Given the description of an element on the screen output the (x, y) to click on. 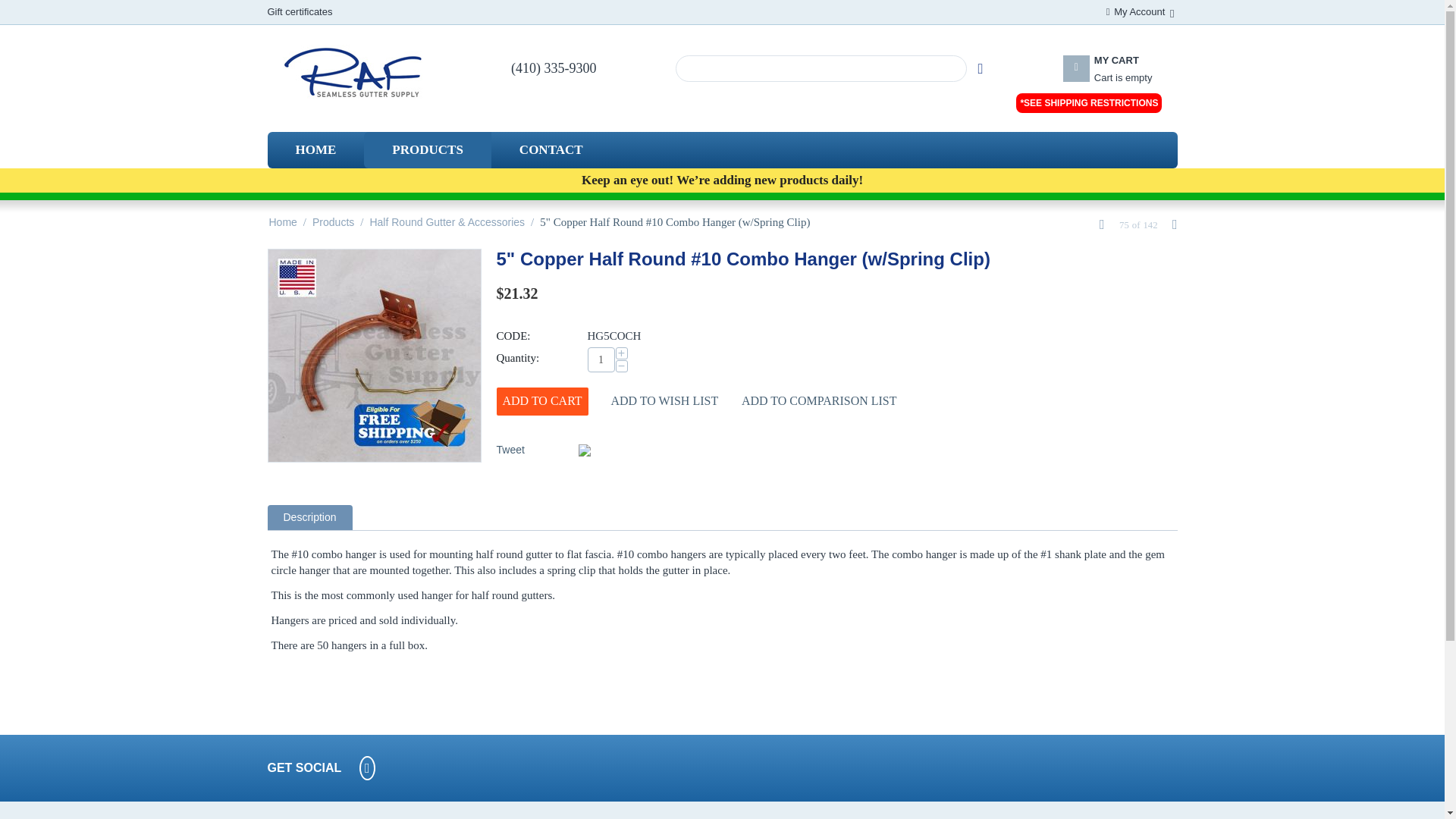
My Account (1139, 11)
Search (979, 68)
HOME (315, 149)
1 (600, 359)
Search products (1121, 77)
PRODUCTS (821, 68)
Gift certificates (428, 149)
